Given the description of an element on the screen output the (x, y) to click on. 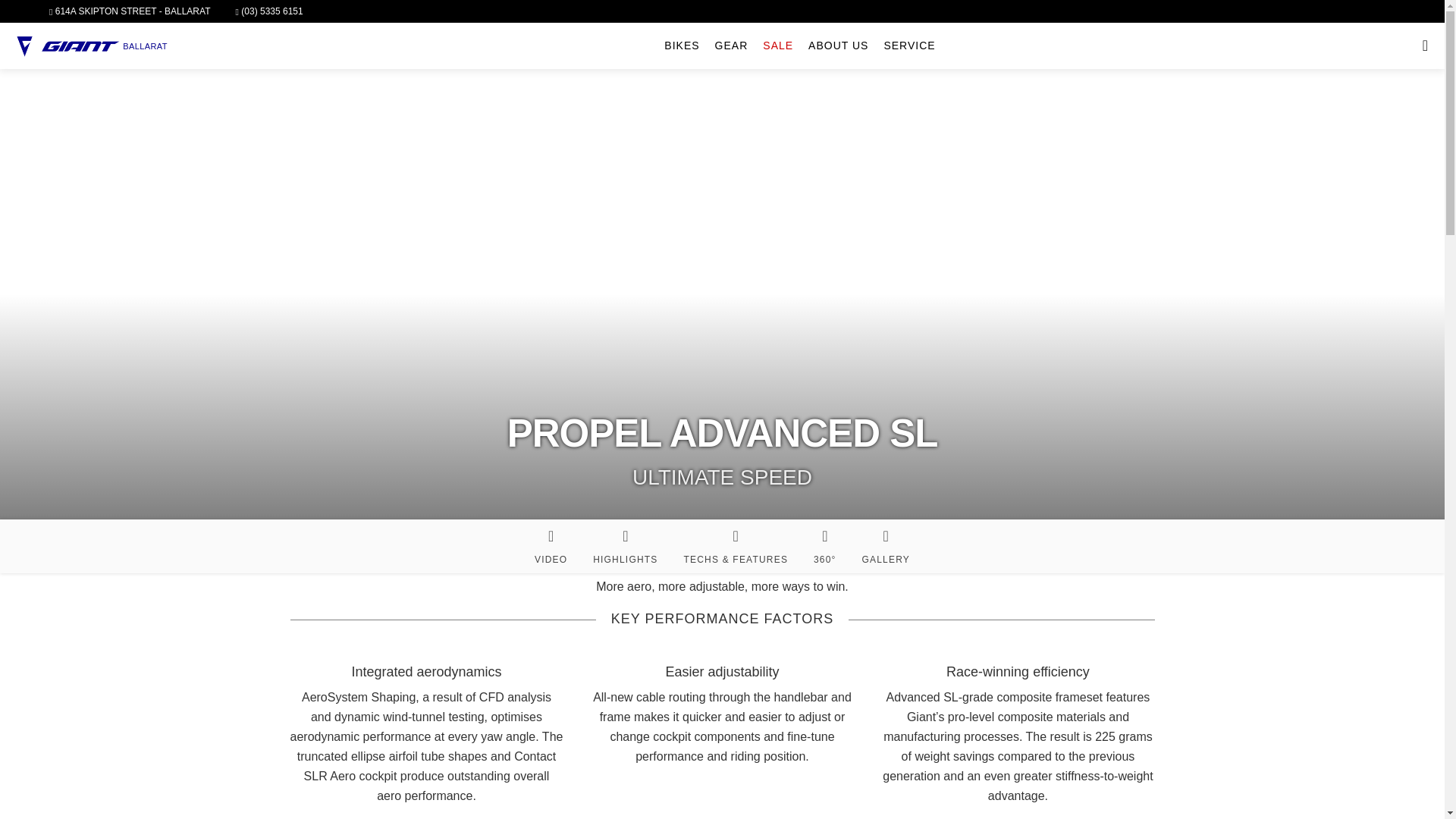
BIKES (680, 44)
